Given the description of an element on the screen output the (x, y) to click on. 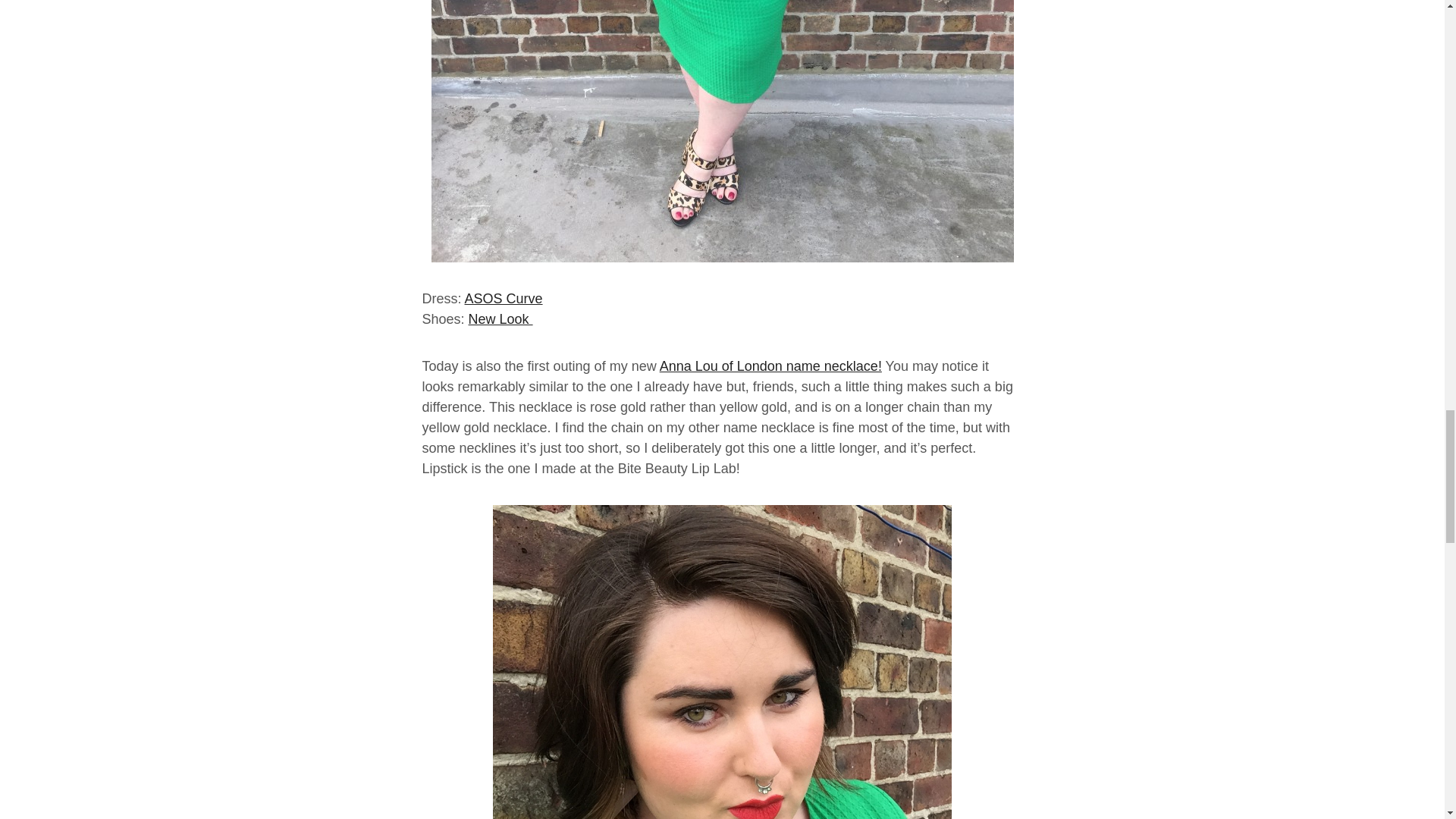
Anna Lou of London name necklace! (770, 365)
New Look  (500, 319)
ASOS Curve (503, 298)
